Given the description of an element on the screen output the (x, y) to click on. 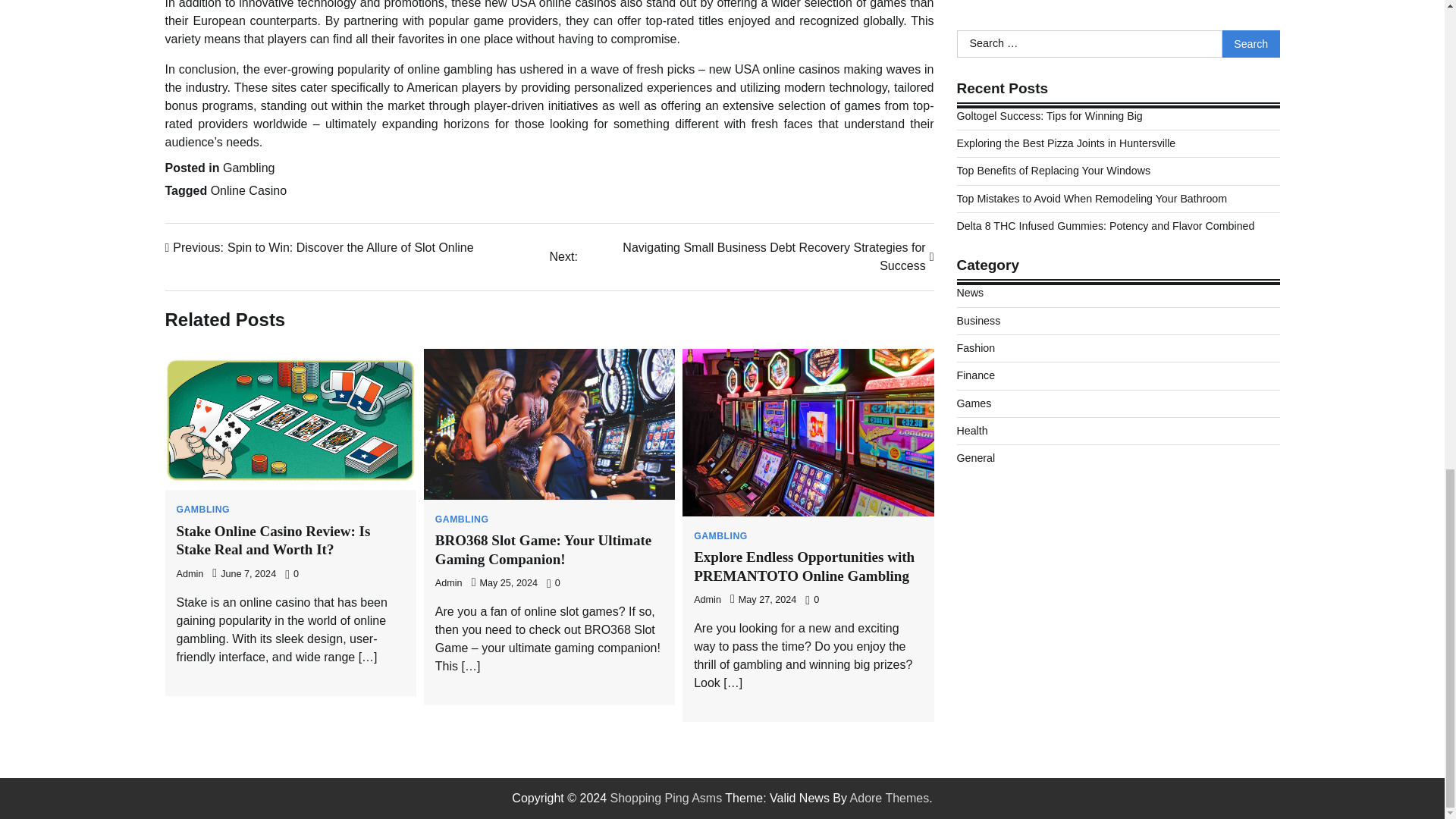
Online Casino (248, 190)
Admin (189, 573)
Admin (707, 599)
GAMBLING (721, 535)
Admin (449, 583)
Gambling (319, 248)
BRO368 Slot Game: Your Ultimate Gaming Companion! (248, 167)
Stake Online Casino Review: Is Stake Real and Worth It? (542, 549)
GAMBLING (272, 540)
GAMBLING (203, 509)
